Given the description of an element on the screen output the (x, y) to click on. 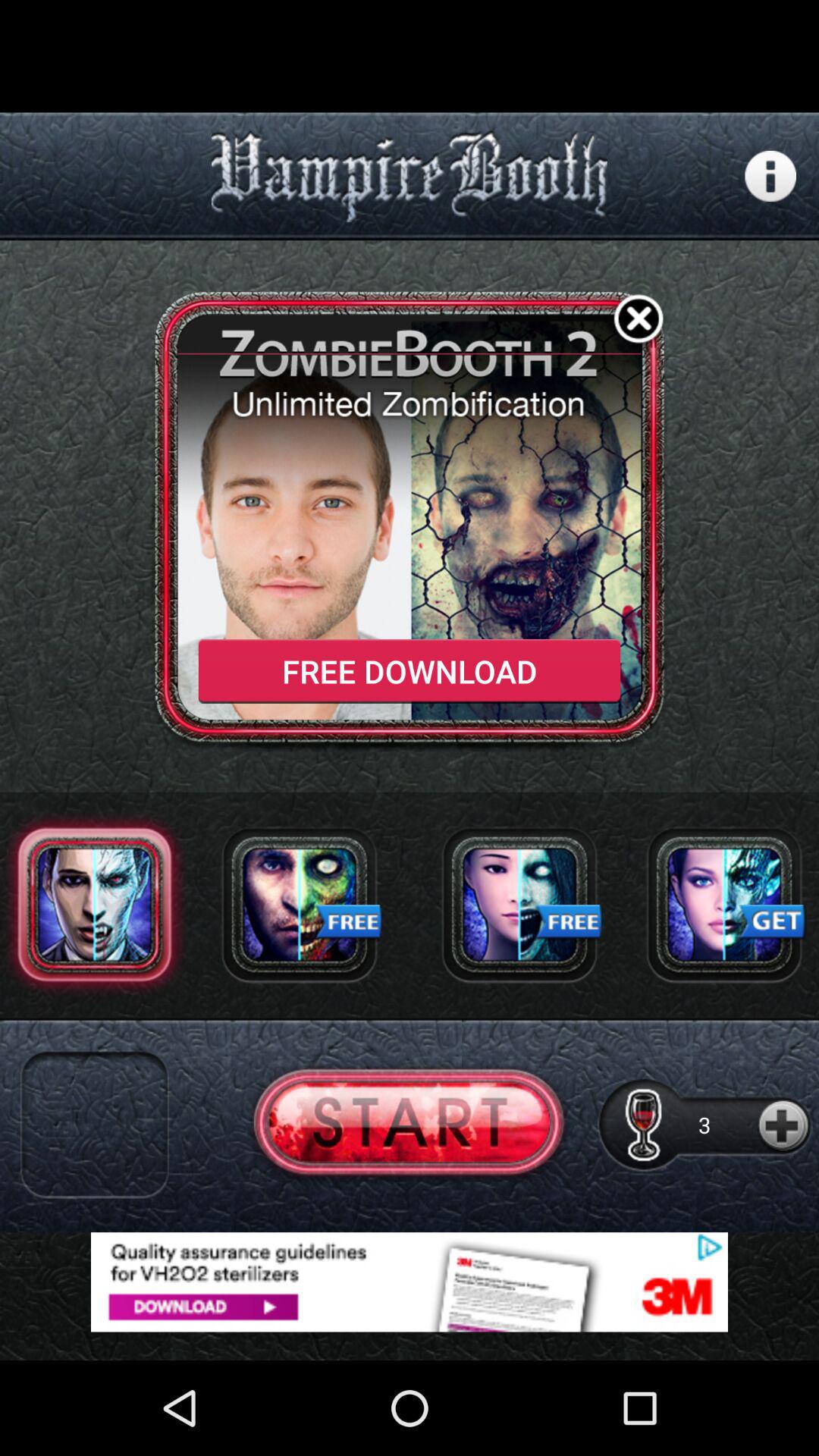
advertisement page (519, 904)
